Given the description of an element on the screen output the (x, y) to click on. 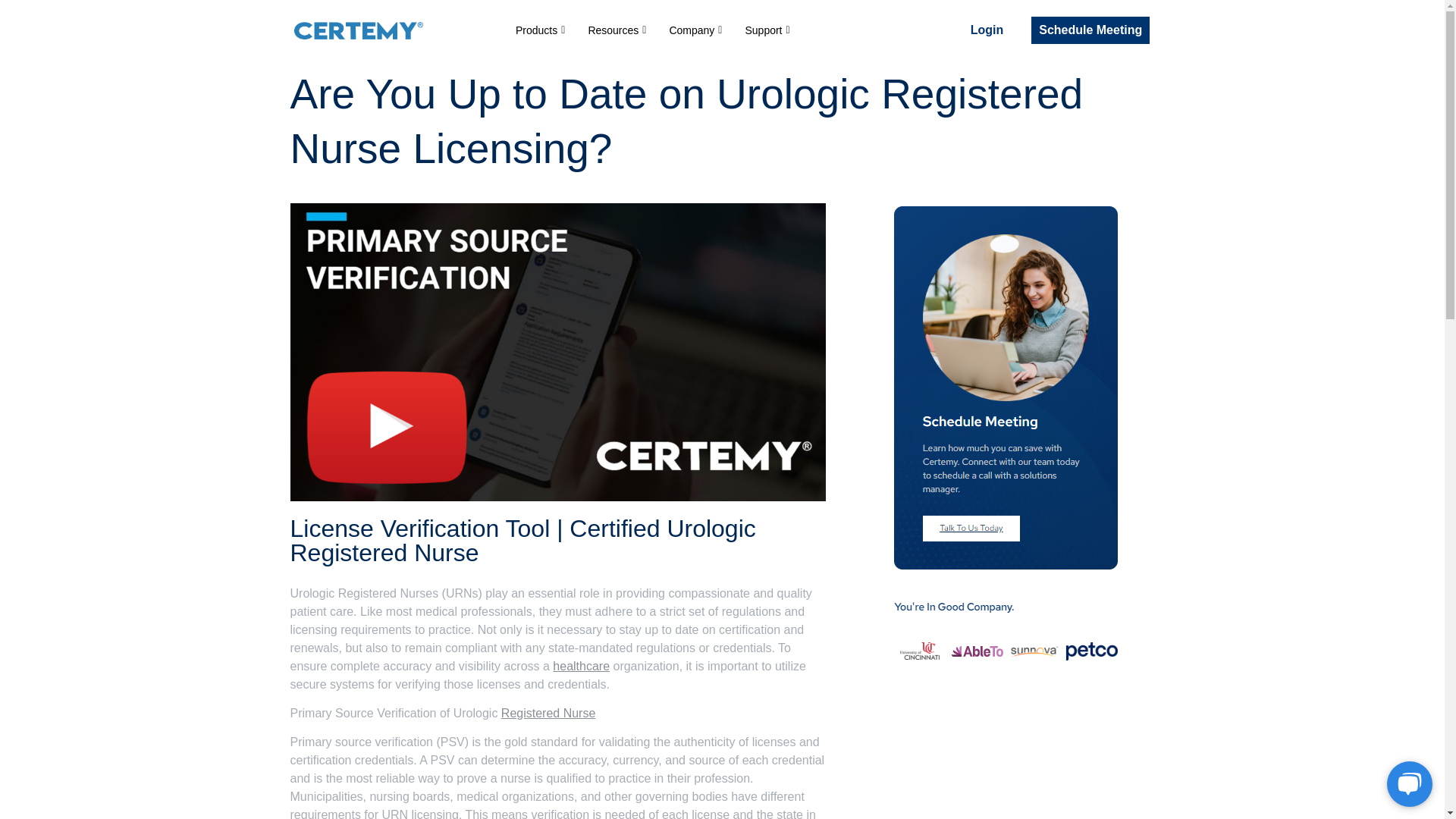
Nurse License Lookup (547, 712)
Registered Nurse (547, 712)
Resources (617, 30)
Healthcare (581, 666)
Products (539, 30)
Schedule Meeting (1090, 30)
healthcare (581, 666)
Support (766, 30)
Company (695, 30)
Login (986, 30)
